Given the description of an element on the screen output the (x, y) to click on. 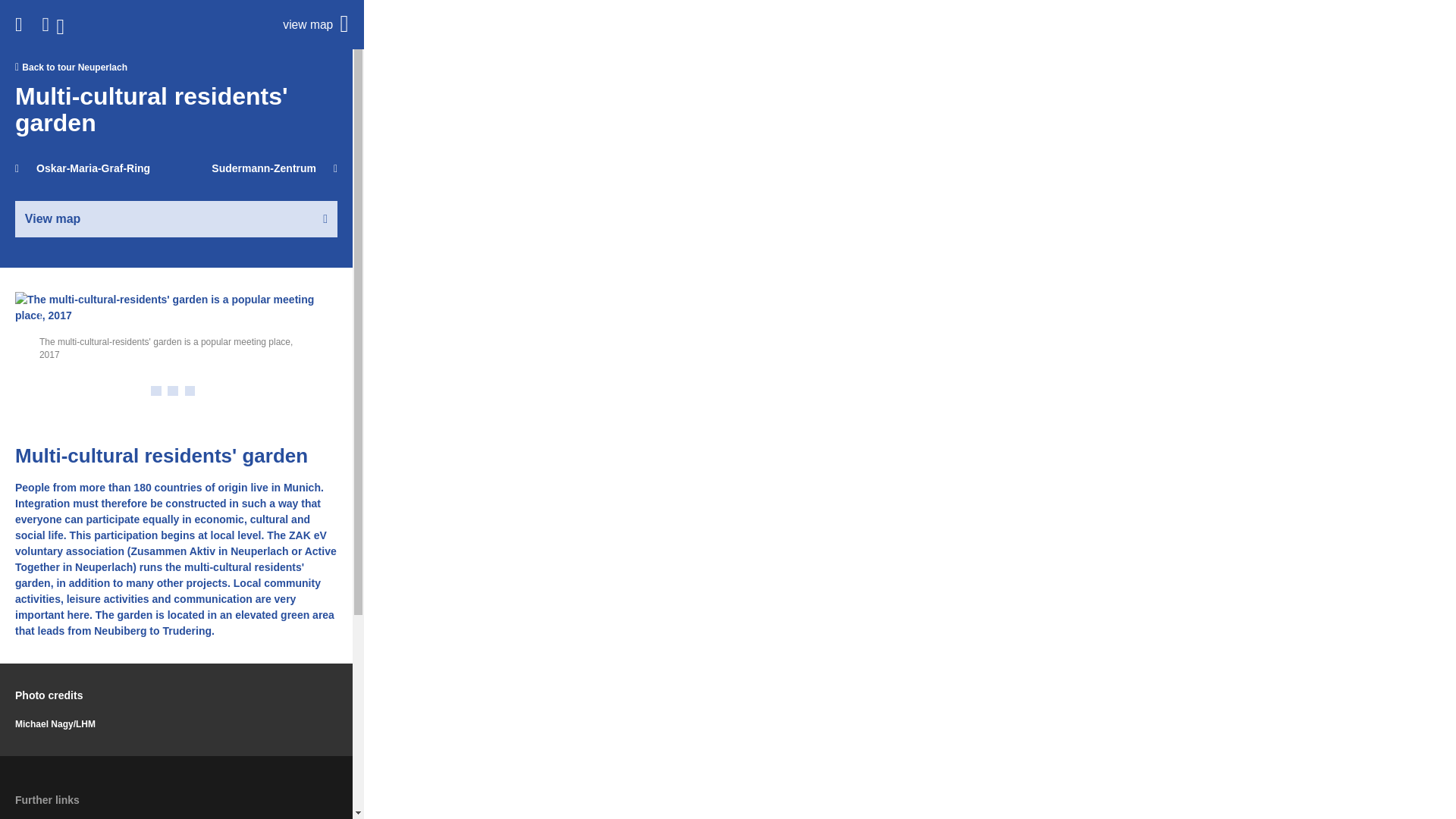
Back to tour Neuperlach (175, 67)
View map (175, 218)
Oskar-Maria-Graf-Ring (81, 168)
Sudermann-Zentrum (274, 168)
